Given the description of an element on the screen output the (x, y) to click on. 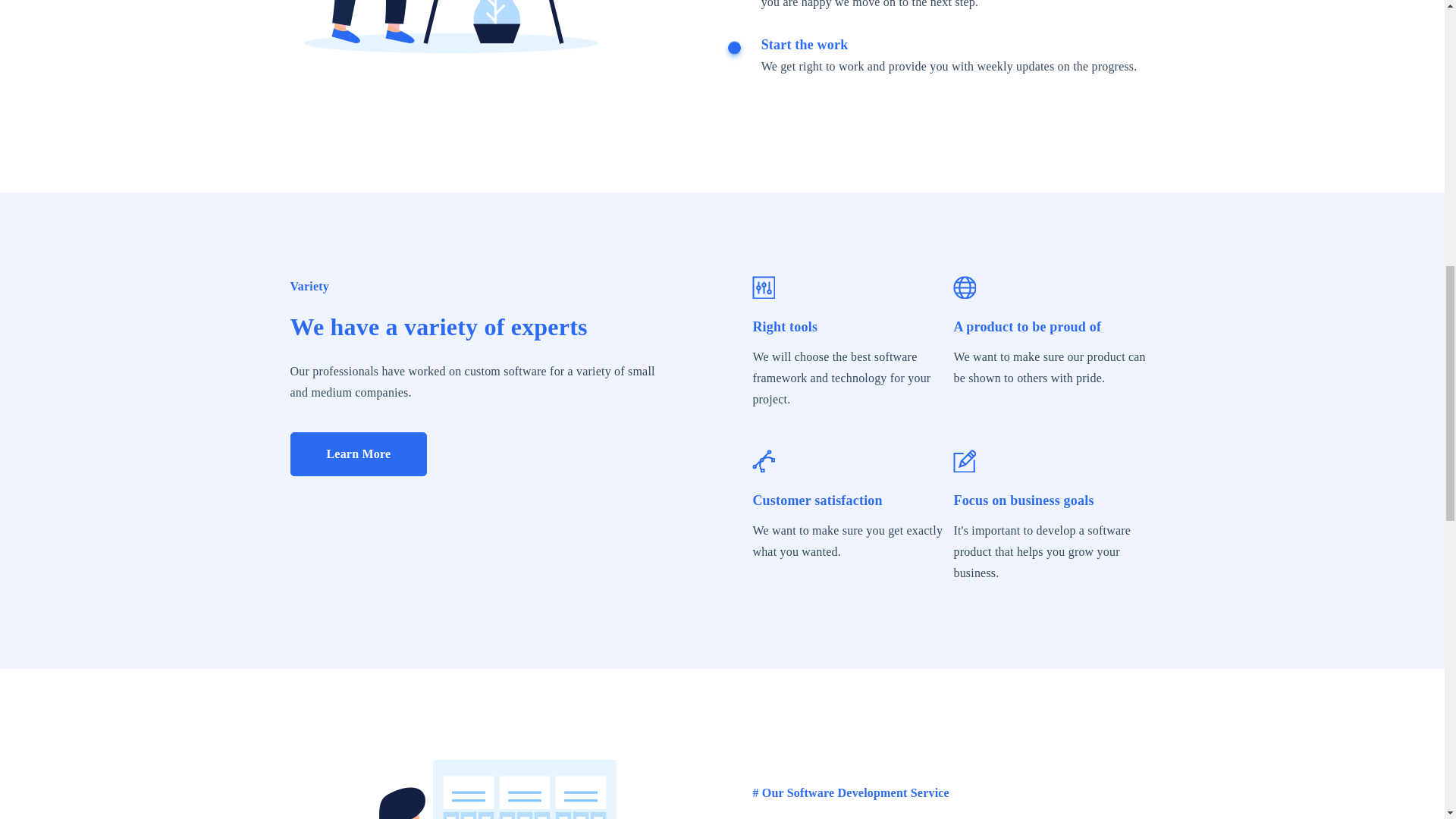
Learn More (357, 453)
